Given the description of an element on the screen output the (x, y) to click on. 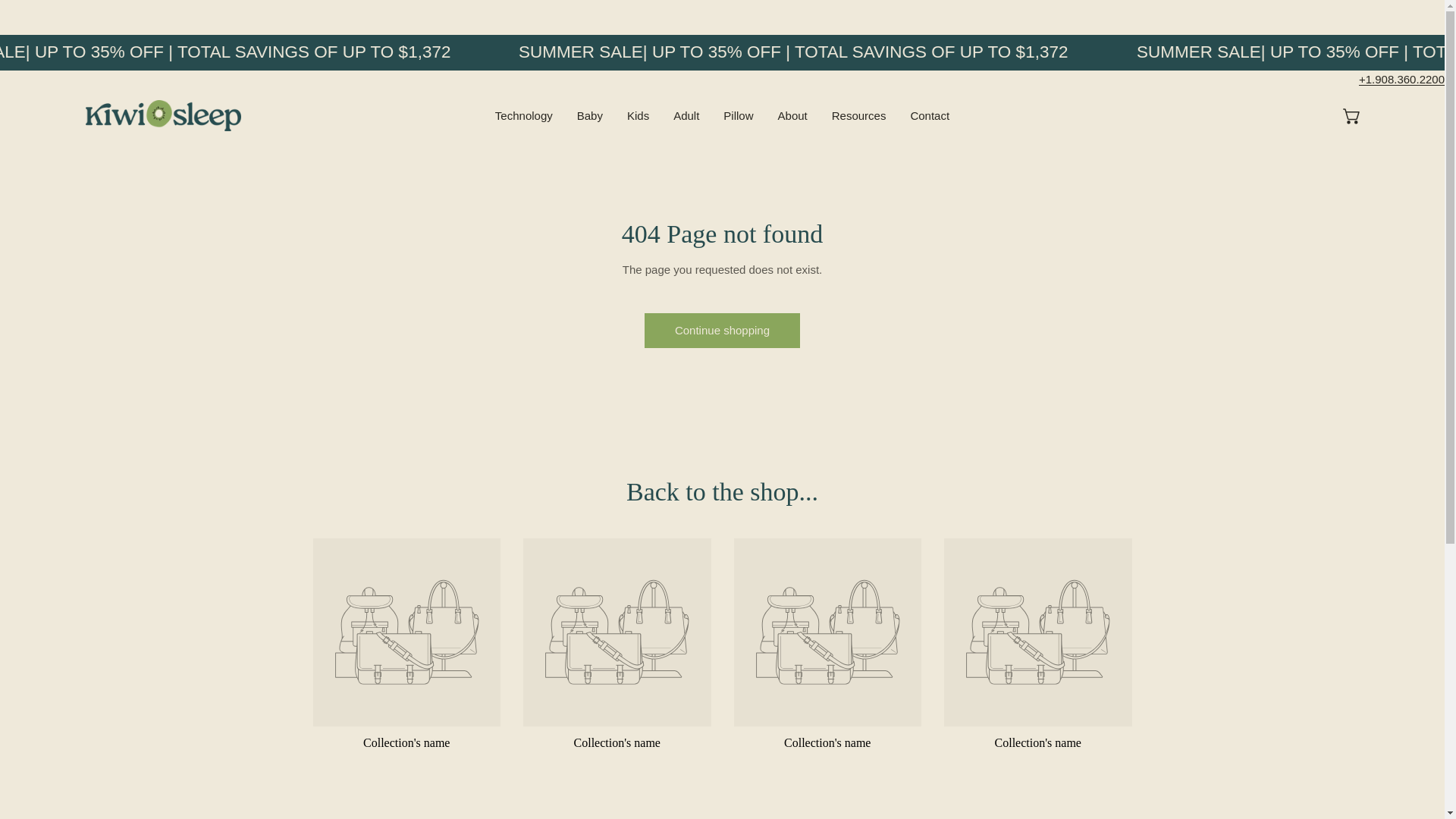
Continue shopping (722, 330)
Contact (929, 114)
Pillow (738, 114)
Resources (858, 114)
Kids (637, 114)
Technology (523, 114)
Adult (686, 114)
Skip to content (30, 17)
Baby (589, 114)
About (792, 114)
